Given the description of an element on the screen output the (x, y) to click on. 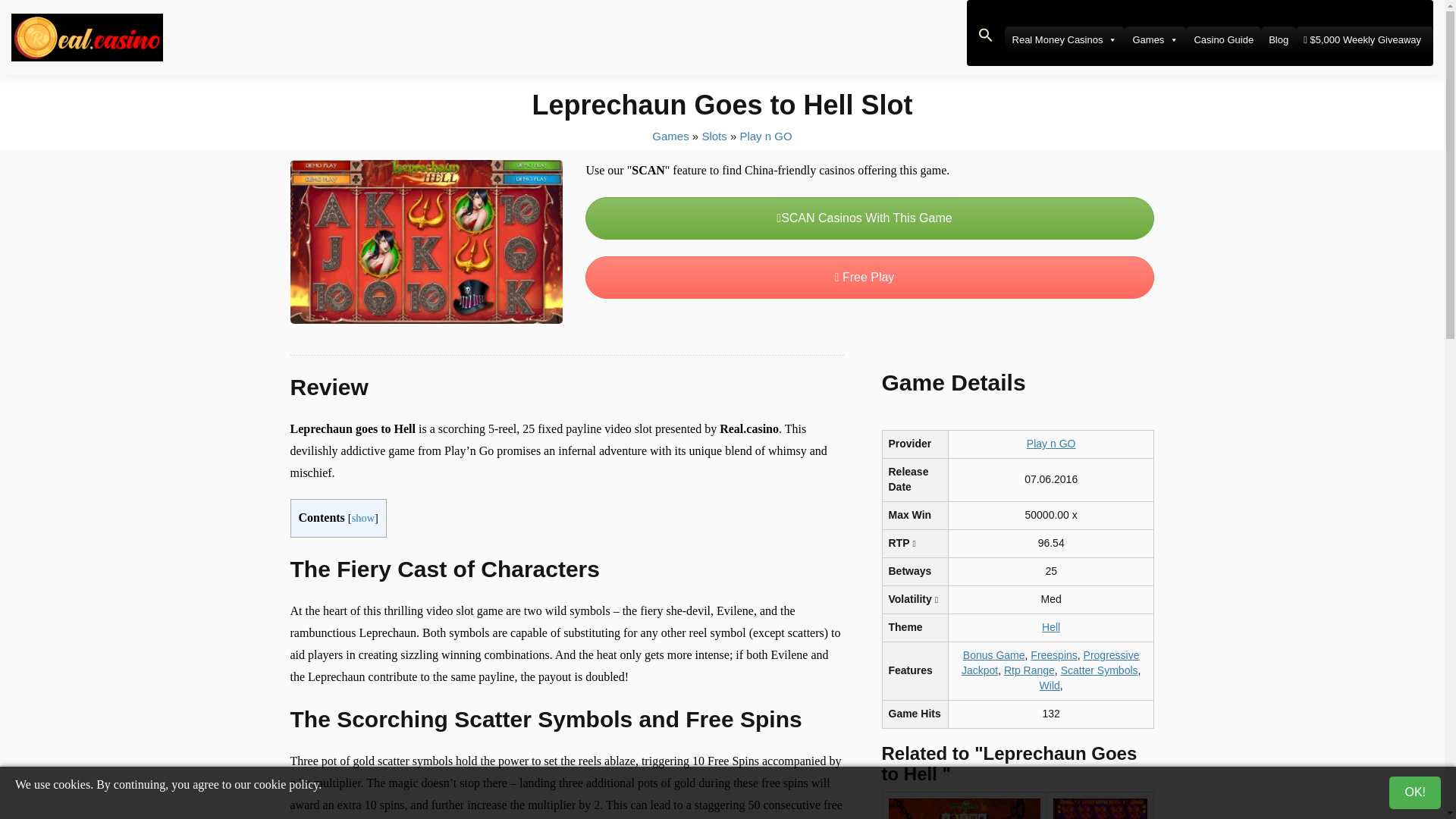
Real Money Casinos (1064, 39)
Online Slots (713, 135)
Games (1155, 39)
Online Casino Games (670, 135)
Play n GO Slots (765, 135)
